Given the description of an element on the screen output the (x, y) to click on. 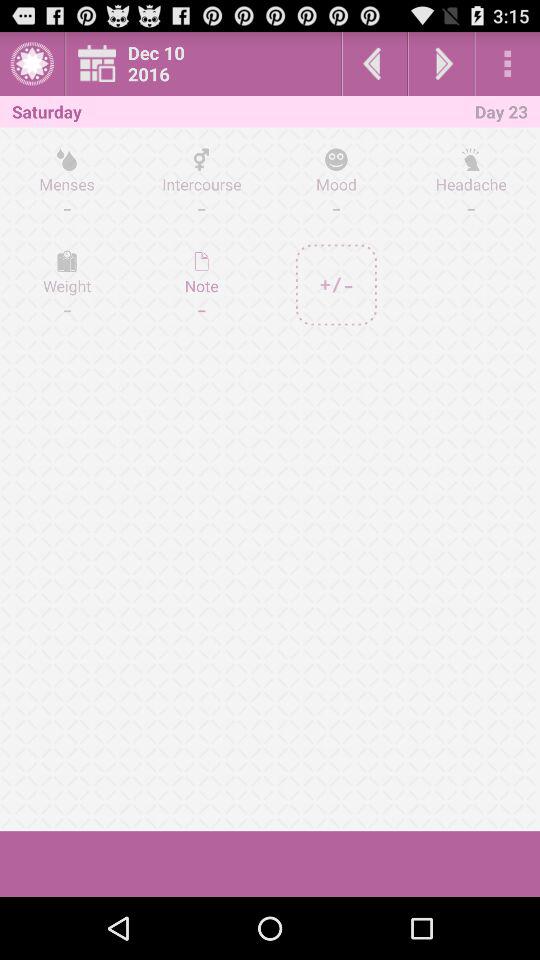
click the note
_ item (201, 284)
